Given the description of an element on the screen output the (x, y) to click on. 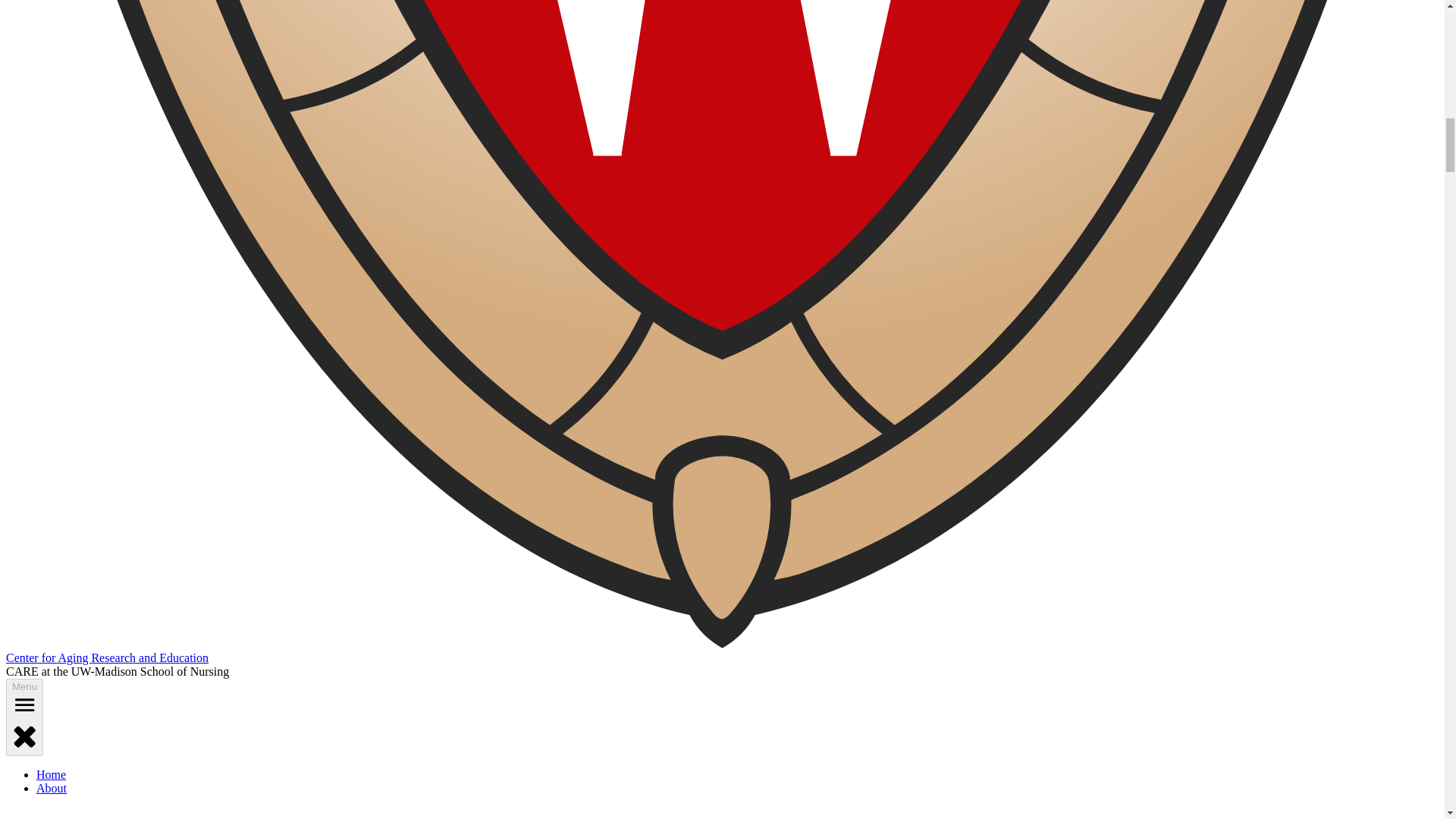
Menu open menu close (24, 717)
Center for Aging Research and Education (106, 657)
close (24, 735)
Home (50, 774)
open menu (24, 704)
